Given the description of an element on the screen output the (x, y) to click on. 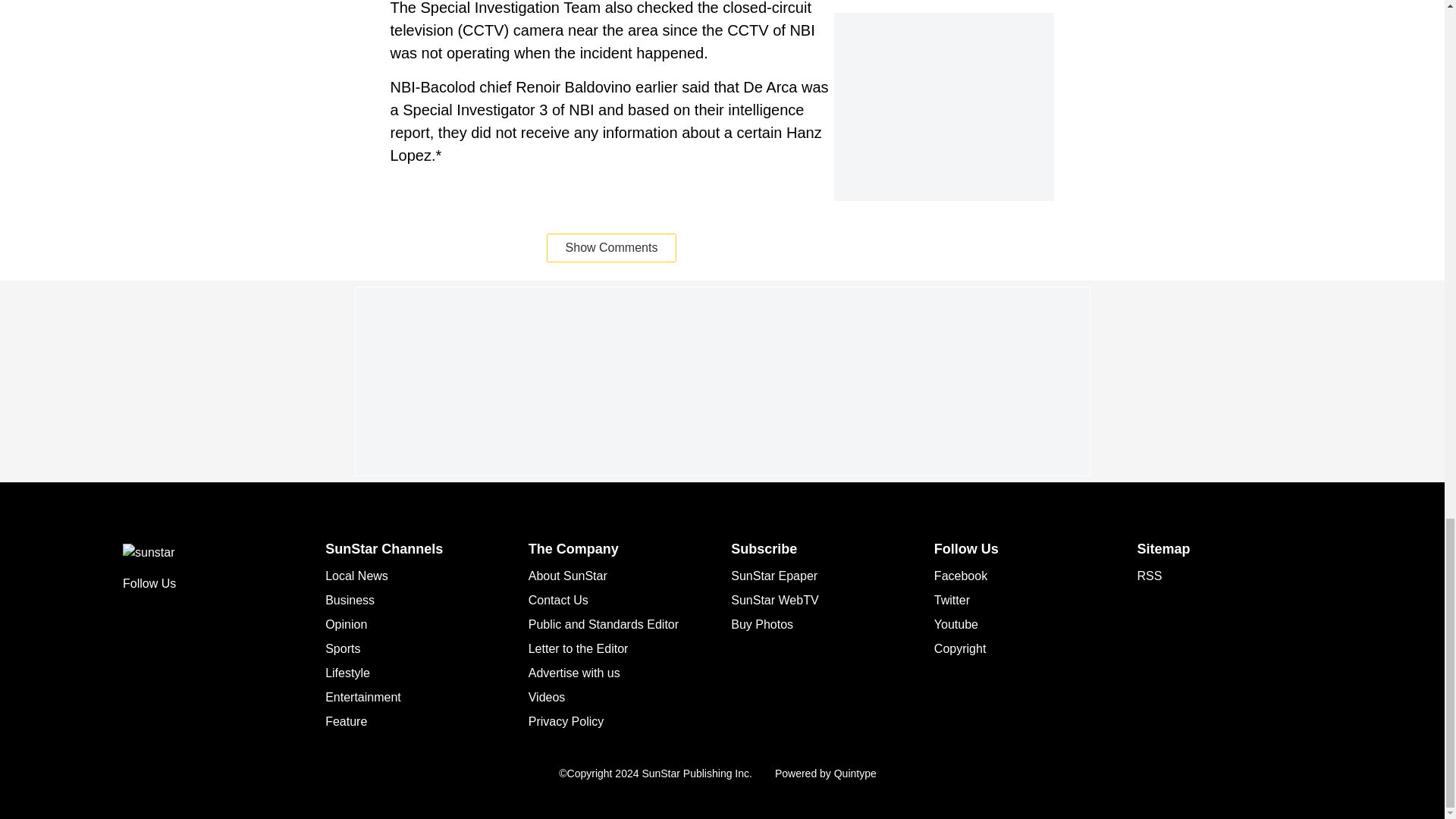
Public and Standards Editor (603, 624)
Local News (356, 575)
Entertainment (362, 697)
Show Comments (612, 247)
Business (349, 599)
Videos (547, 697)
Contact Us (558, 599)
Letter to the Editor (578, 648)
About SunStar (567, 575)
Lifestyle (346, 672)
Advertise with us (574, 672)
Opinion (345, 624)
Feature (345, 721)
Sports (341, 648)
Privacy Policy (566, 721)
